Given the description of an element on the screen output the (x, y) to click on. 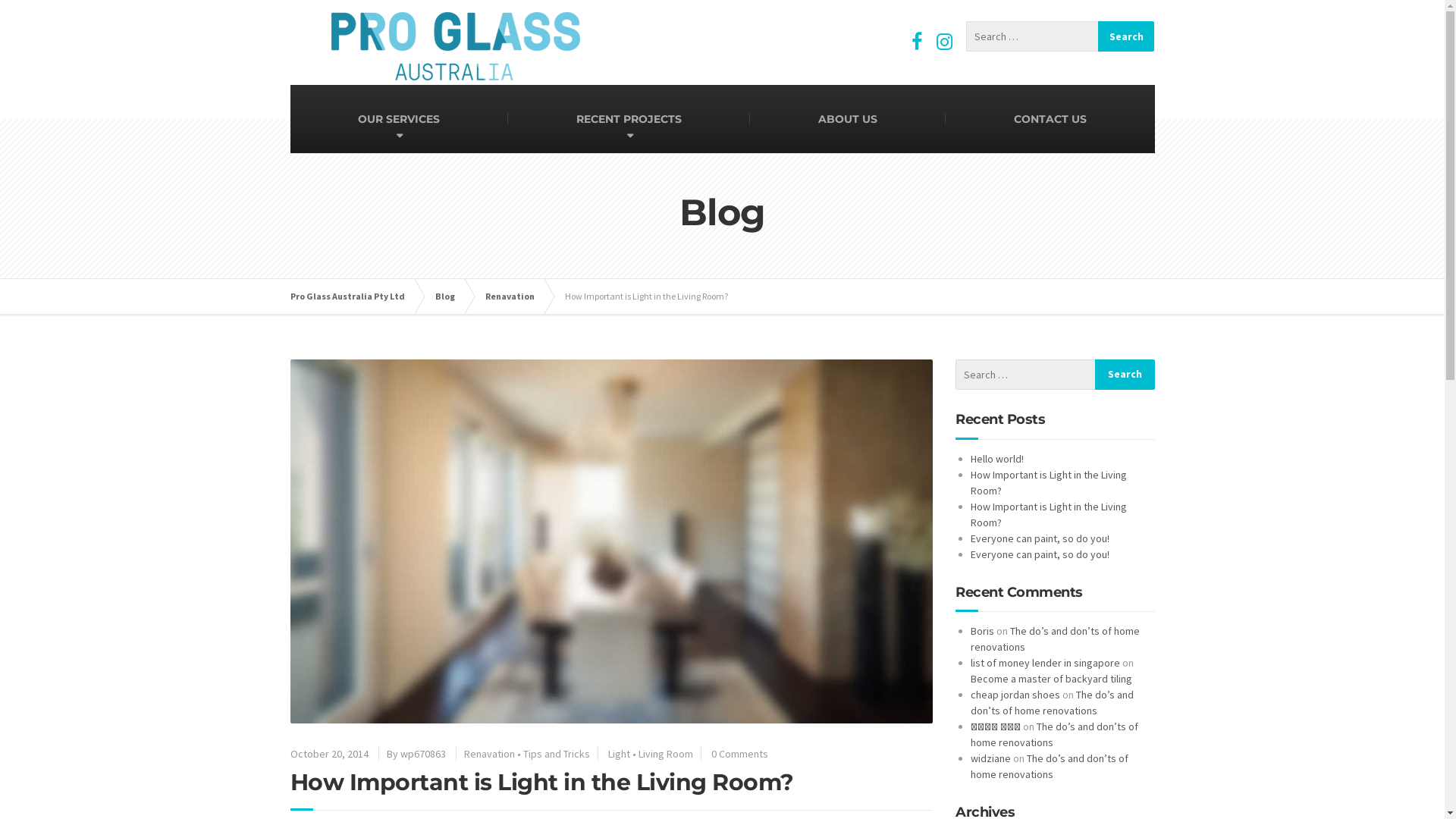
Living Room Element type: text (665, 752)
How Important is Light in the Living Room? Element type: text (1048, 514)
CONTACT US Element type: text (1049, 118)
Everyone can paint, so do you! Element type: text (1039, 538)
Search Element type: text (1126, 36)
Renavation Element type: text (517, 296)
Become a master of backyard tiling Element type: text (1051, 678)
Renavation Element type: text (489, 752)
ABOUT US Element type: text (847, 118)
Tips and Tricks Element type: text (556, 752)
Pro Glass Australia Pty Ltd Element type: text (354, 296)
cheap jordan shoes Element type: text (1015, 694)
Blog Element type: text (452, 296)
How Important is Light in the Living Room? Element type: text (1048, 482)
Boris Element type: text (982, 630)
OUR SERVICES Element type: text (398, 118)
widziane Element type: text (990, 758)
Light Element type: text (619, 752)
0 Comments Element type: text (739, 752)
list of money lender in singapore Element type: text (1045, 662)
RECENT PROJECTS Element type: text (628, 118)
Everyone can paint, so do you! Element type: text (1039, 554)
Hello world! Element type: text (996, 458)
Search Element type: text (1124, 374)
